Given the description of an element on the screen output the (x, y) to click on. 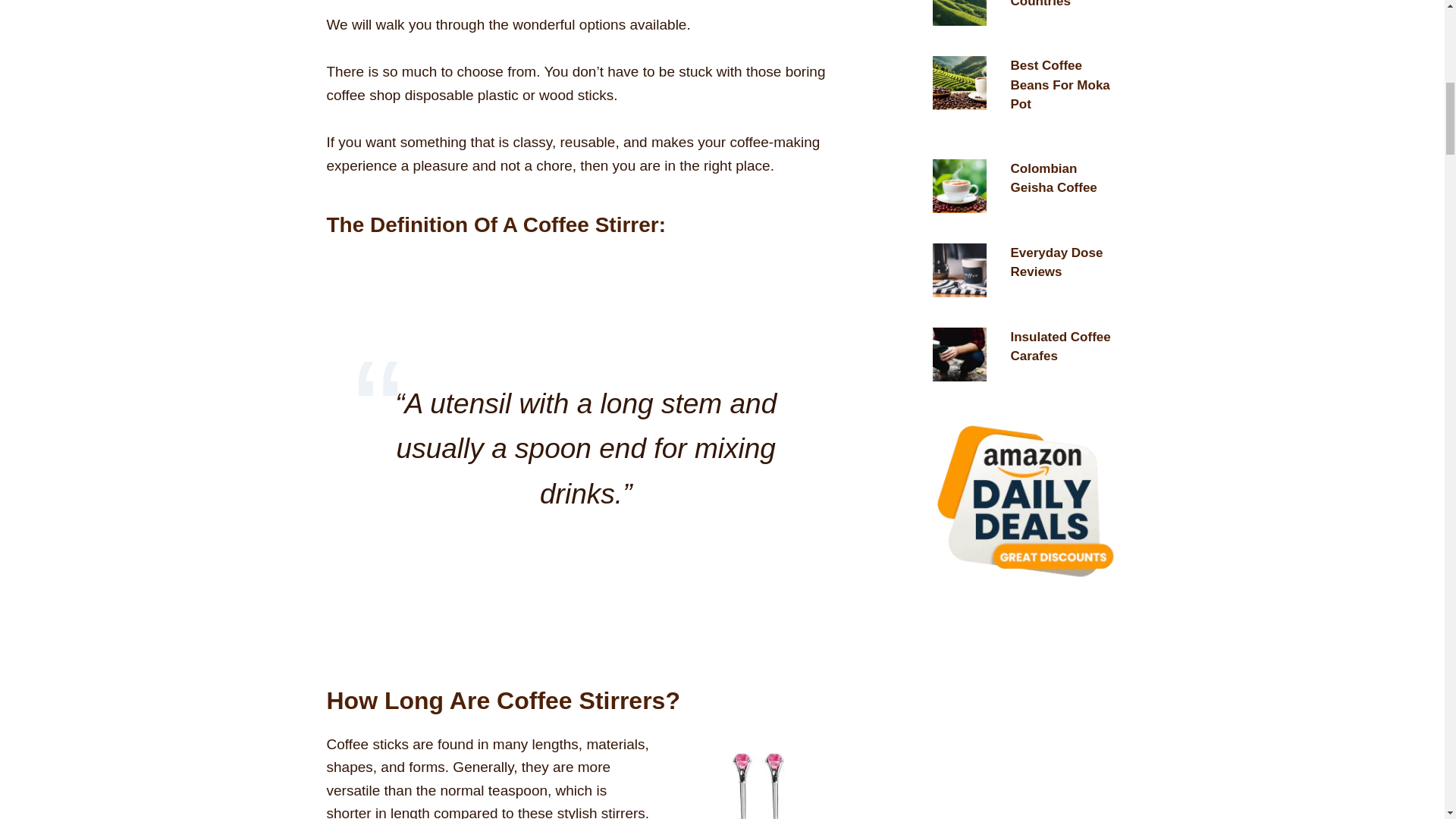
Everyday Dose Reviews (1056, 262)
Coffee Belt Countries (1044, 4)
Insulated Coffee Carafes (1059, 346)
Best Coffee Beans For Moka Pot (1059, 84)
Colombian Geisha Coffee (1053, 178)
